Given the description of an element on the screen output the (x, y) to click on. 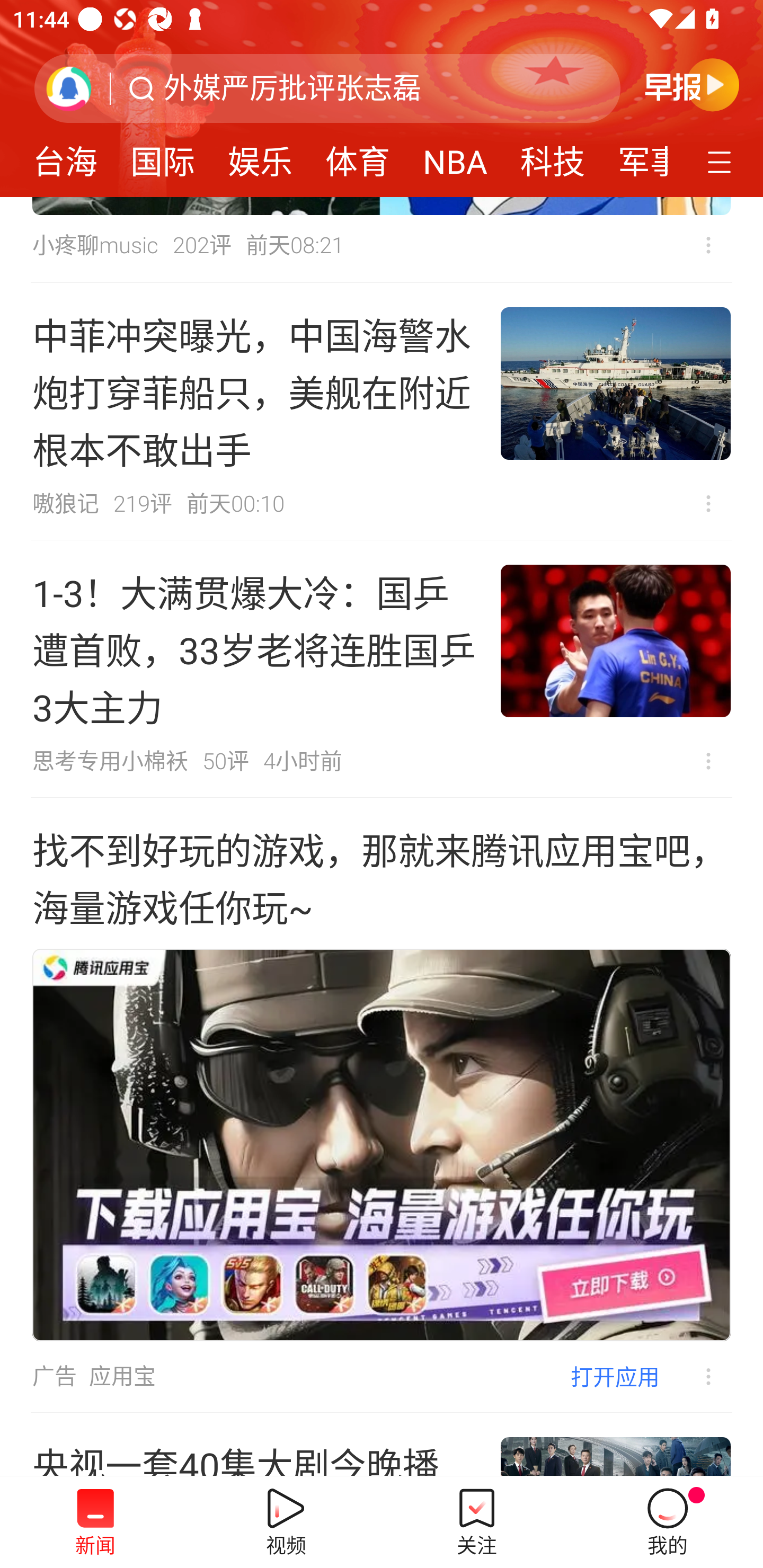
早晚报 (691, 84)
刷新 (68, 88)
外媒严厉批评张志磊 (292, 88)
台海 (64, 155)
国际 (162, 155)
娱乐 (260, 155)
体育 (357, 155)
NBA (454, 155)
科技 (552, 155)
 定制频道 (721, 160)
 不感兴趣 (707, 245)
 不感兴趣 (707, 503)
 不感兴趣 (707, 761)
找不到好玩的游戏，那就来腾讯应用宝吧，海量游戏任你玩~ (381, 876)
 不感兴趣 (694, 1376)
打开应用 (614, 1376)
广告 (54, 1376)
应用宝 (122, 1376)
